Given the description of an element on the screen output the (x, y) to click on. 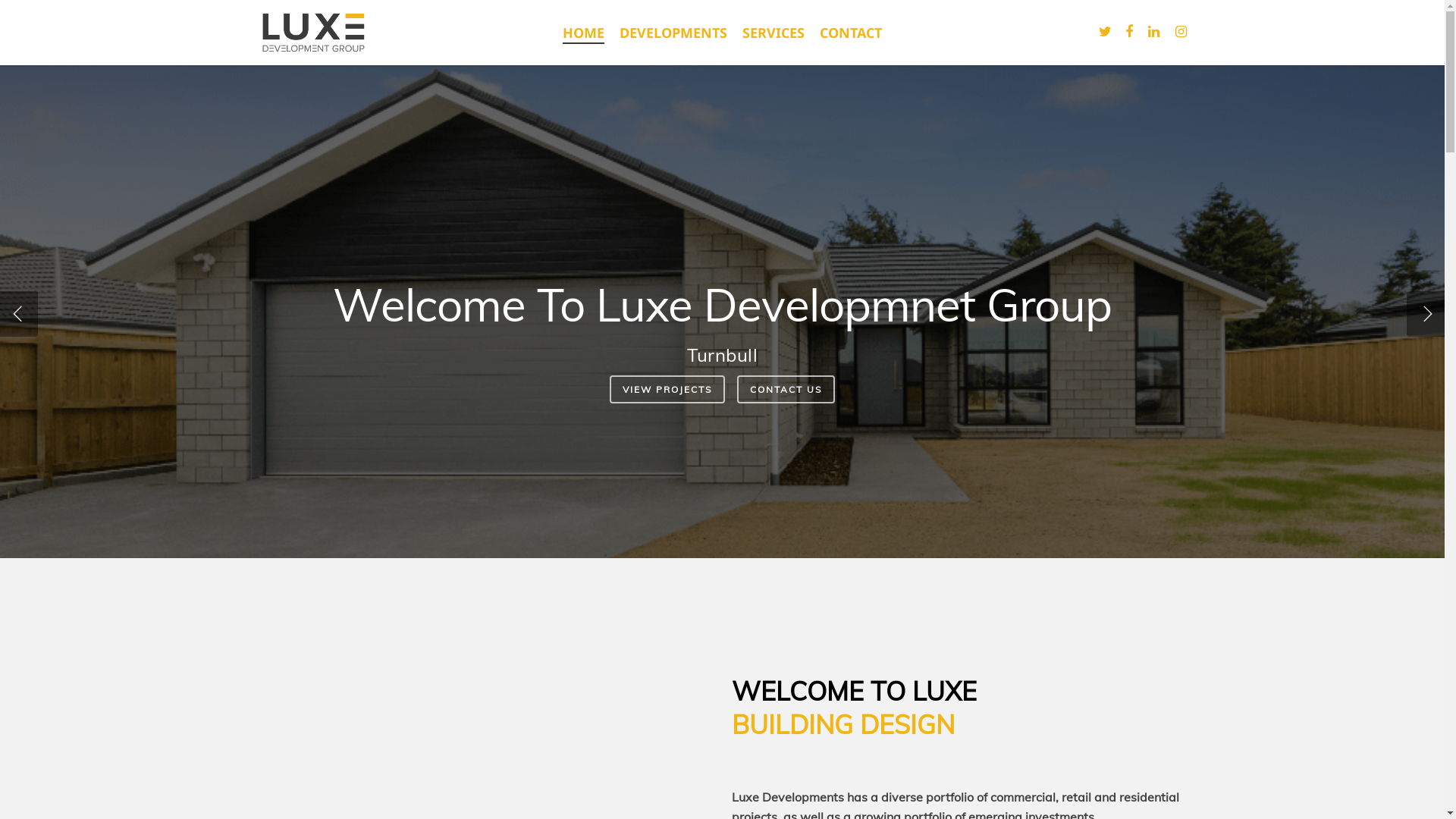
SERVICES Element type: text (773, 32)
CONTACT Element type: text (850, 32)
VIEW PROJECTS Element type: text (770, 389)
DEVELOPMENTS Element type: text (673, 32)
HOME Element type: text (583, 32)
CONTACT US Element type: text (852, 389)
